Given the description of an element on the screen output the (x, y) to click on. 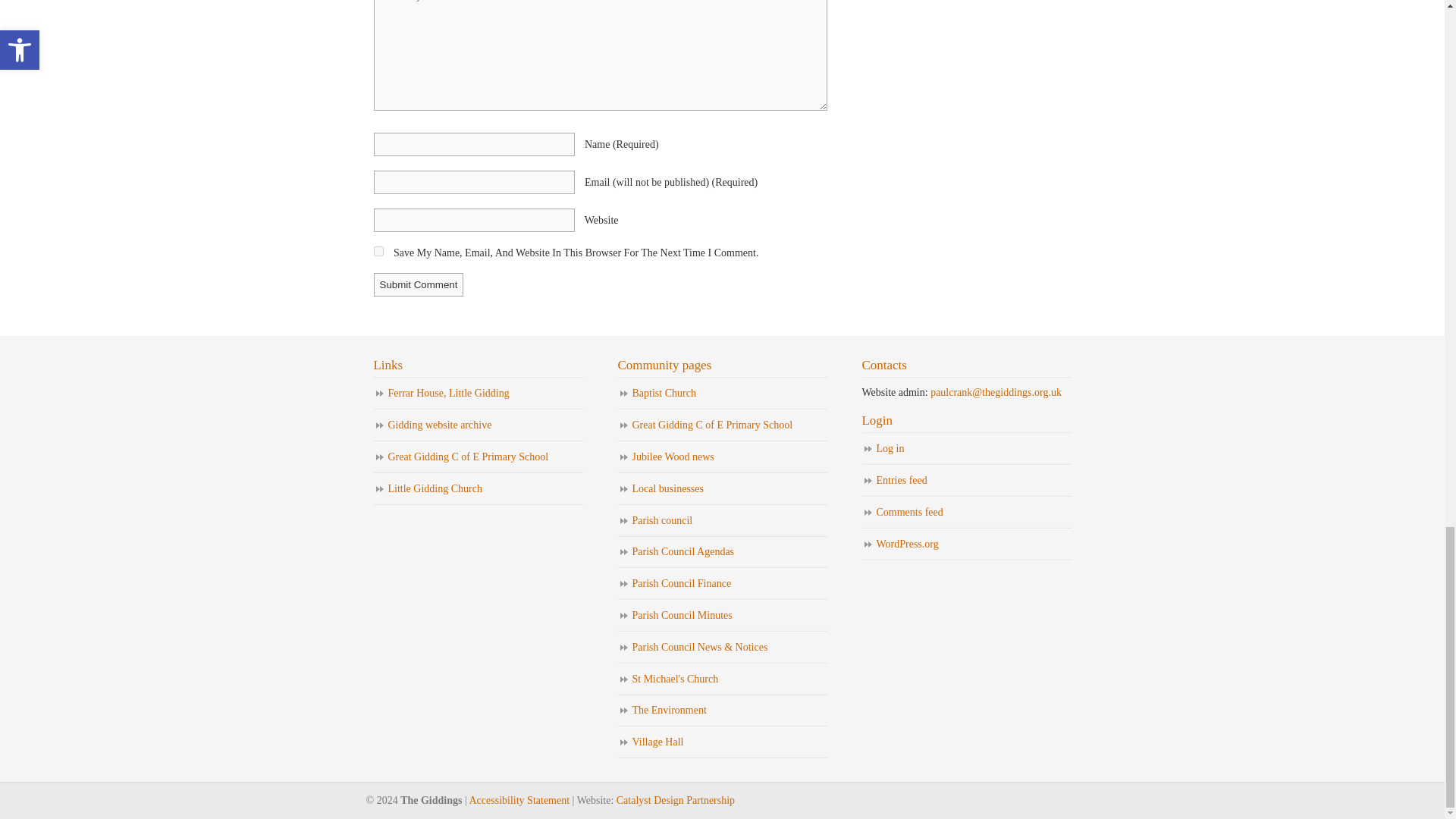
yes (377, 251)
Catalyst Design Patnership (675, 799)
Accessibility Statement (518, 799)
Previous version of Giddings website (477, 426)
The website for Ferrar House Little Gidding (477, 394)
Submit Comment (417, 284)
